Given the description of an element on the screen output the (x, y) to click on. 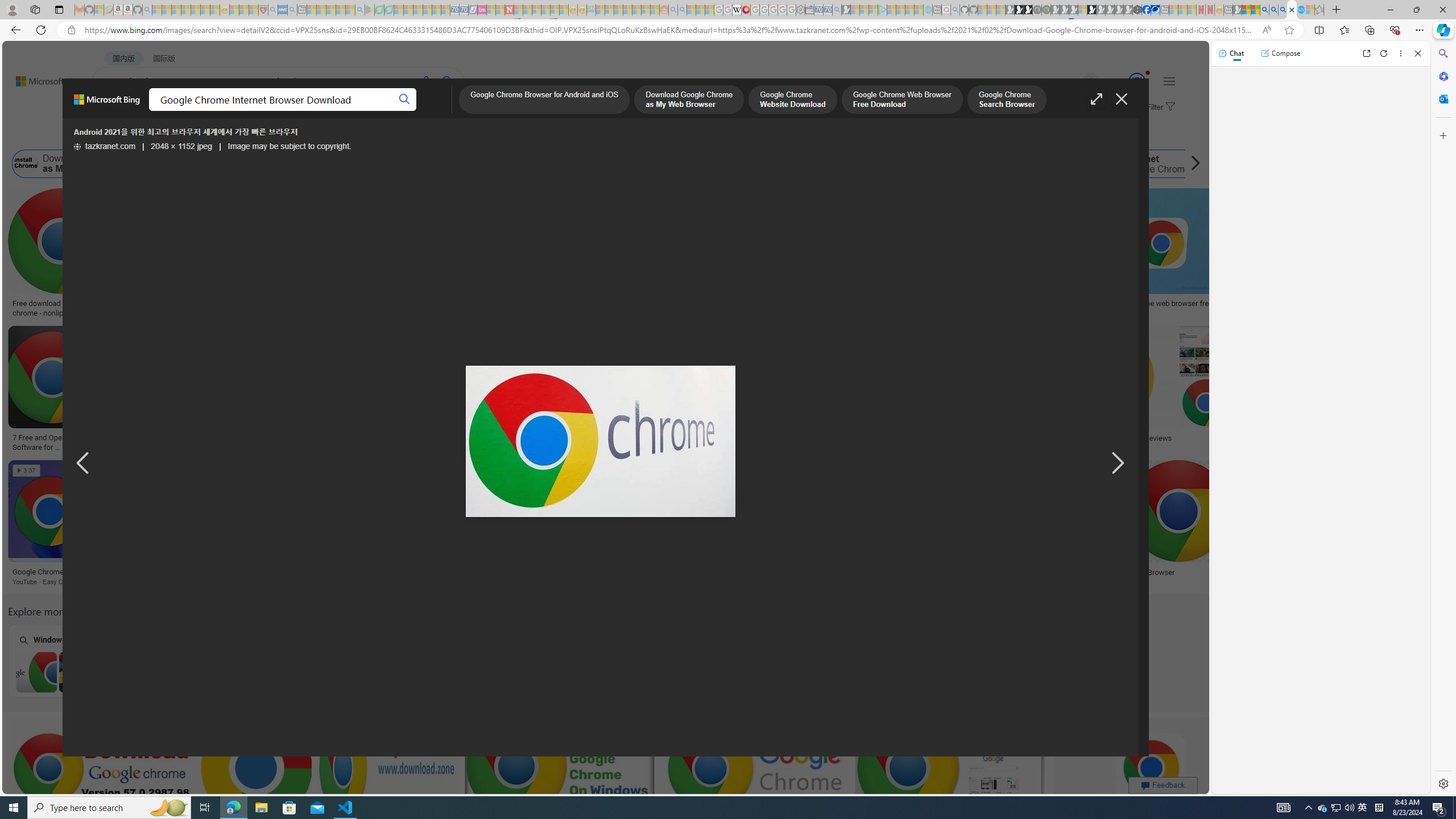
Download Chrome Browser in Internet Explorer (224, 671)
Scroll right (1192, 163)
2009 Bing officially replaced Live Search on June 3 - Search (1272, 9)
Chrome Browser (1203, 571)
Install Google Chrome Web Browser (597, 163)
